Given the description of an element on the screen output the (x, y) to click on. 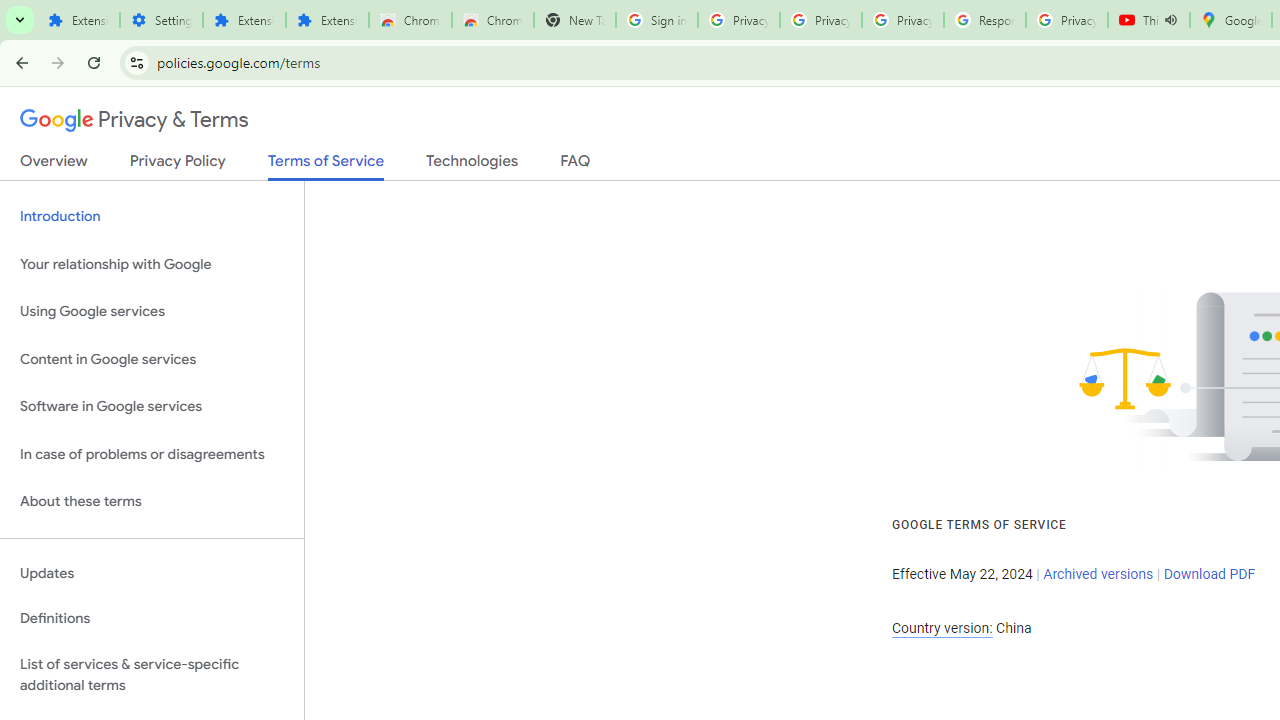
Chrome Web Store (409, 20)
Your relationship with Google (152, 263)
Software in Google services (152, 407)
Using Google services (152, 312)
About these terms (152, 502)
Archived versions (1098, 574)
